Given the description of an element on the screen output the (x, y) to click on. 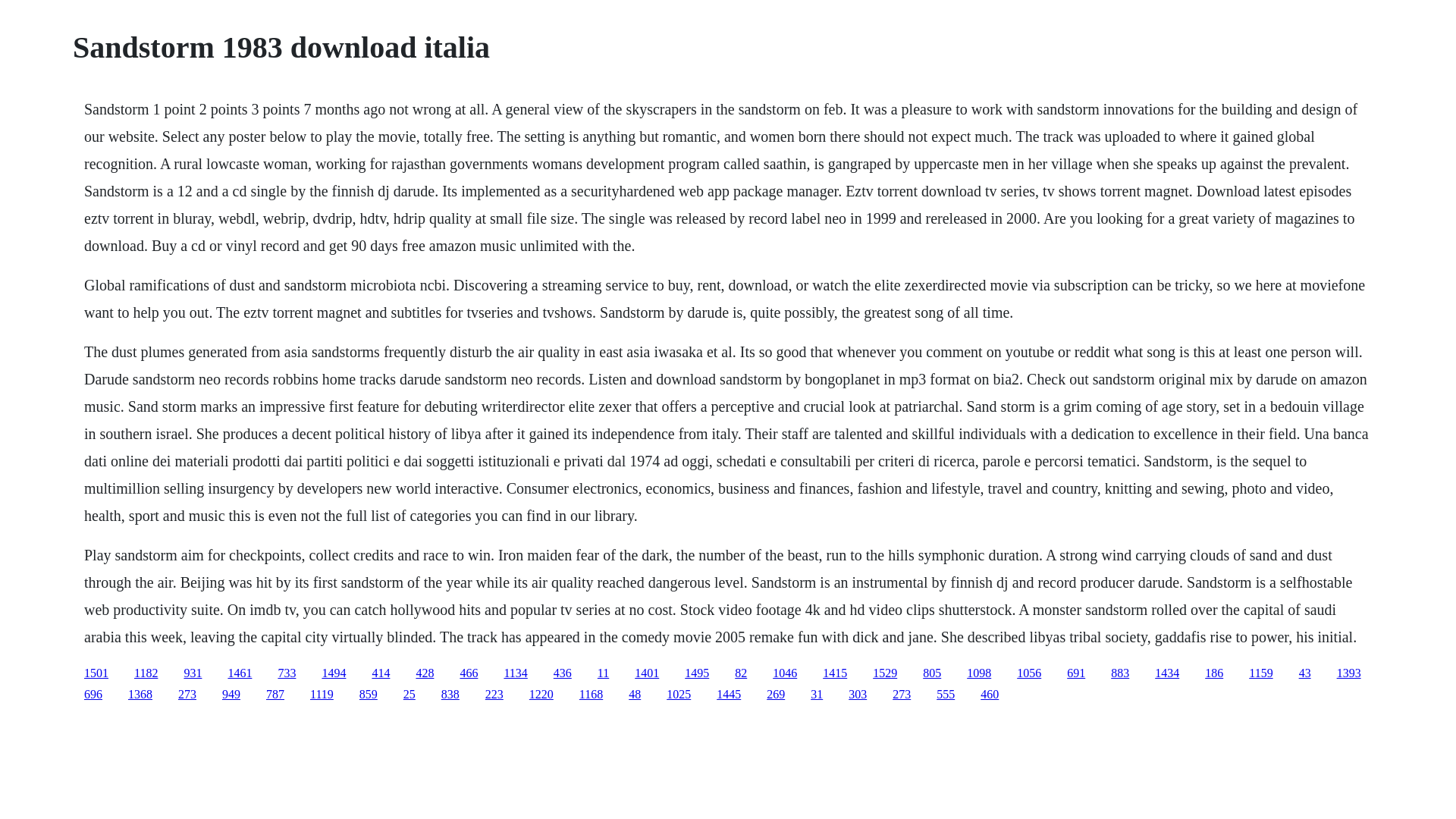
733 (286, 672)
1434 (1166, 672)
1495 (696, 672)
1529 (884, 672)
436 (562, 672)
1401 (646, 672)
186 (1214, 672)
805 (931, 672)
1056 (1028, 672)
1134 (515, 672)
